Given the description of an element on the screen output the (x, y) to click on. 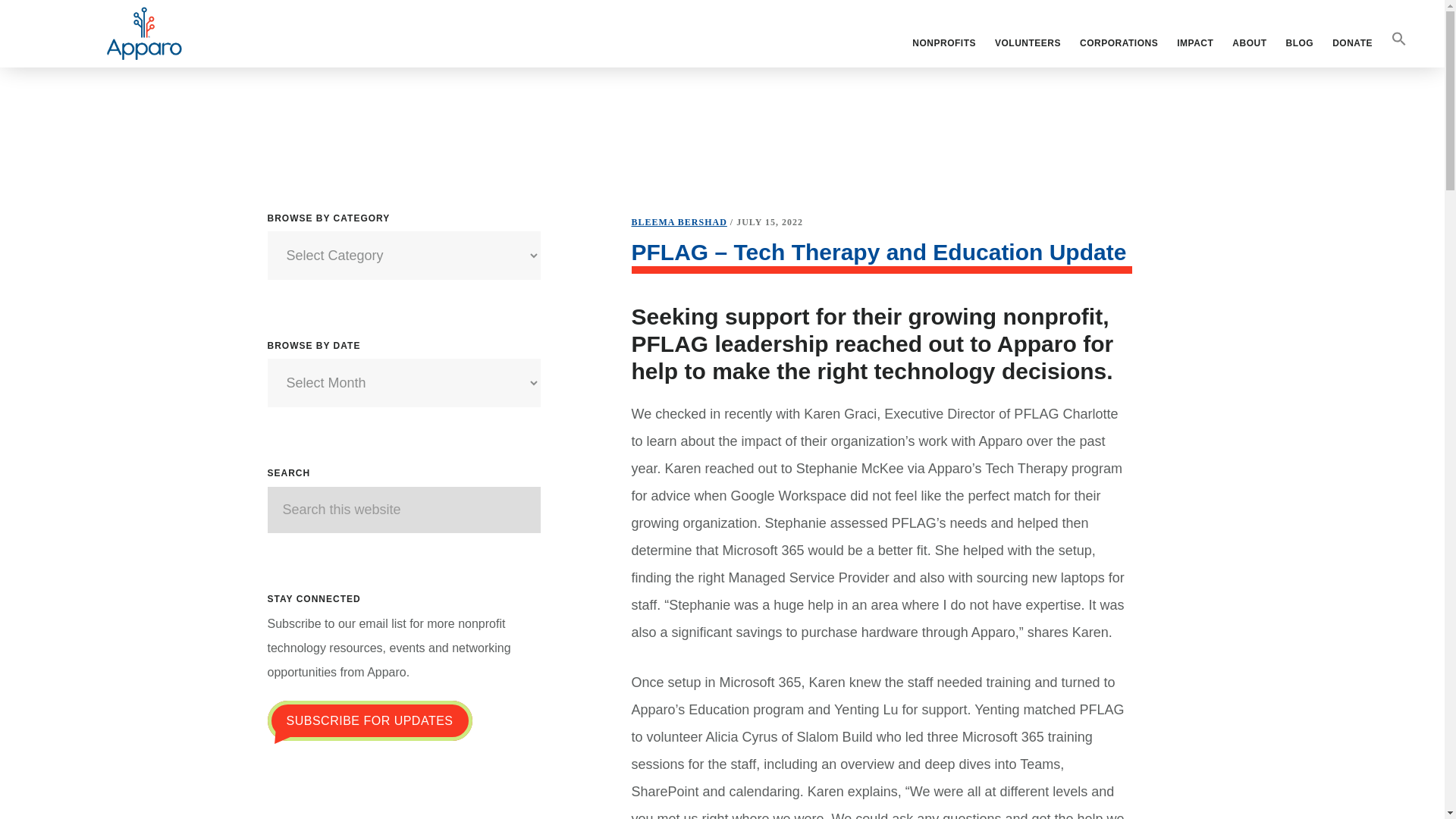
VOLUNTEERS (1027, 43)
IMPACT (1195, 43)
NONPROFITS (944, 43)
Search (562, 505)
APPARO (143, 32)
Search (562, 505)
CORPORATIONS (1118, 43)
